Given the description of an element on the screen output the (x, y) to click on. 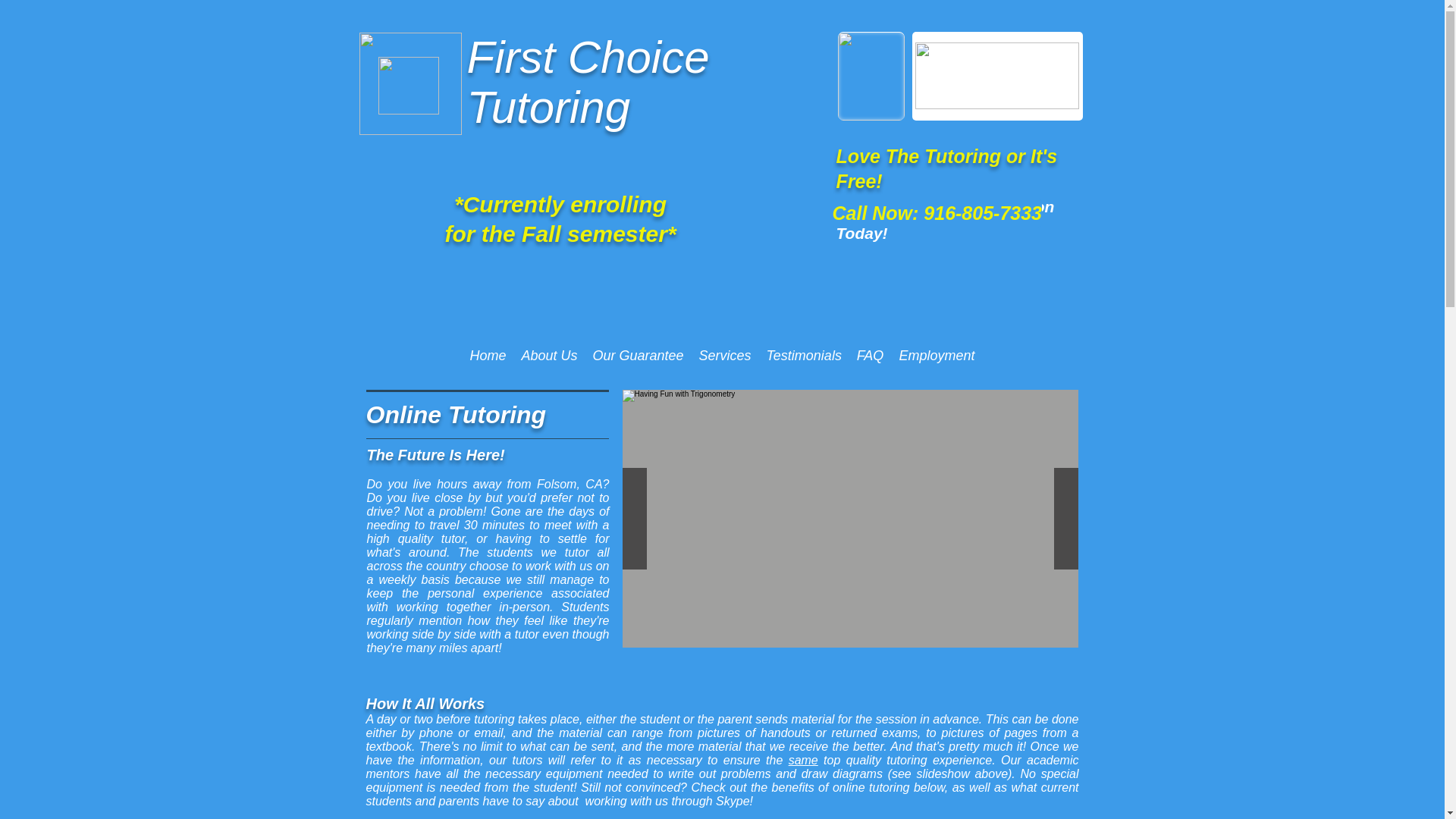
Employment (936, 355)
Our Guarantee (638, 355)
Home (488, 355)
FAQ (869, 355)
Testimonials (803, 355)
About Us (549, 355)
Call Now: 916-805-7333 (937, 213)
